Given the description of an element on the screen output the (x, y) to click on. 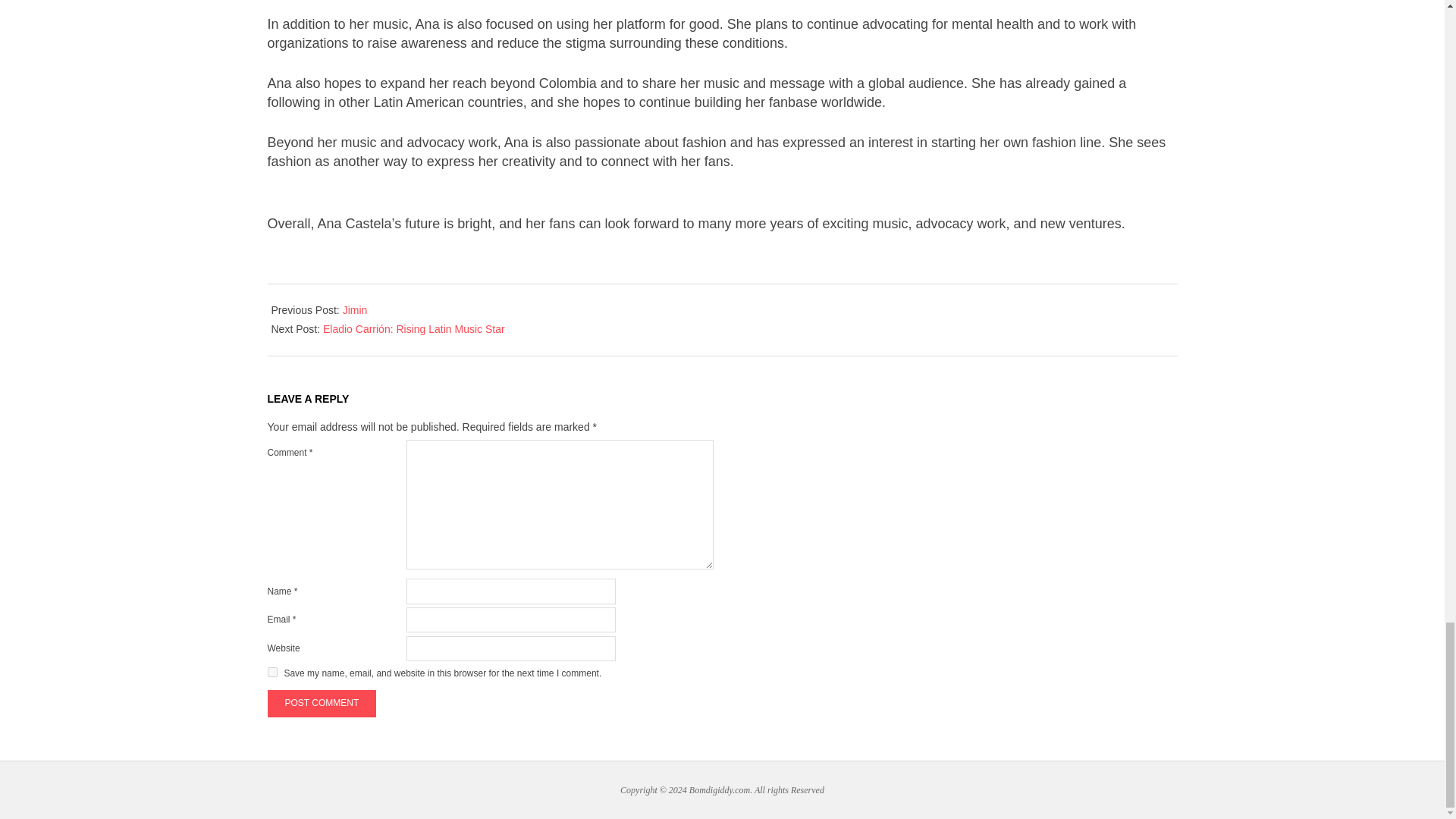
yes (271, 672)
Post Comment (320, 703)
Post Comment (320, 703)
Jimin (355, 309)
